Given the description of an element on the screen output the (x, y) to click on. 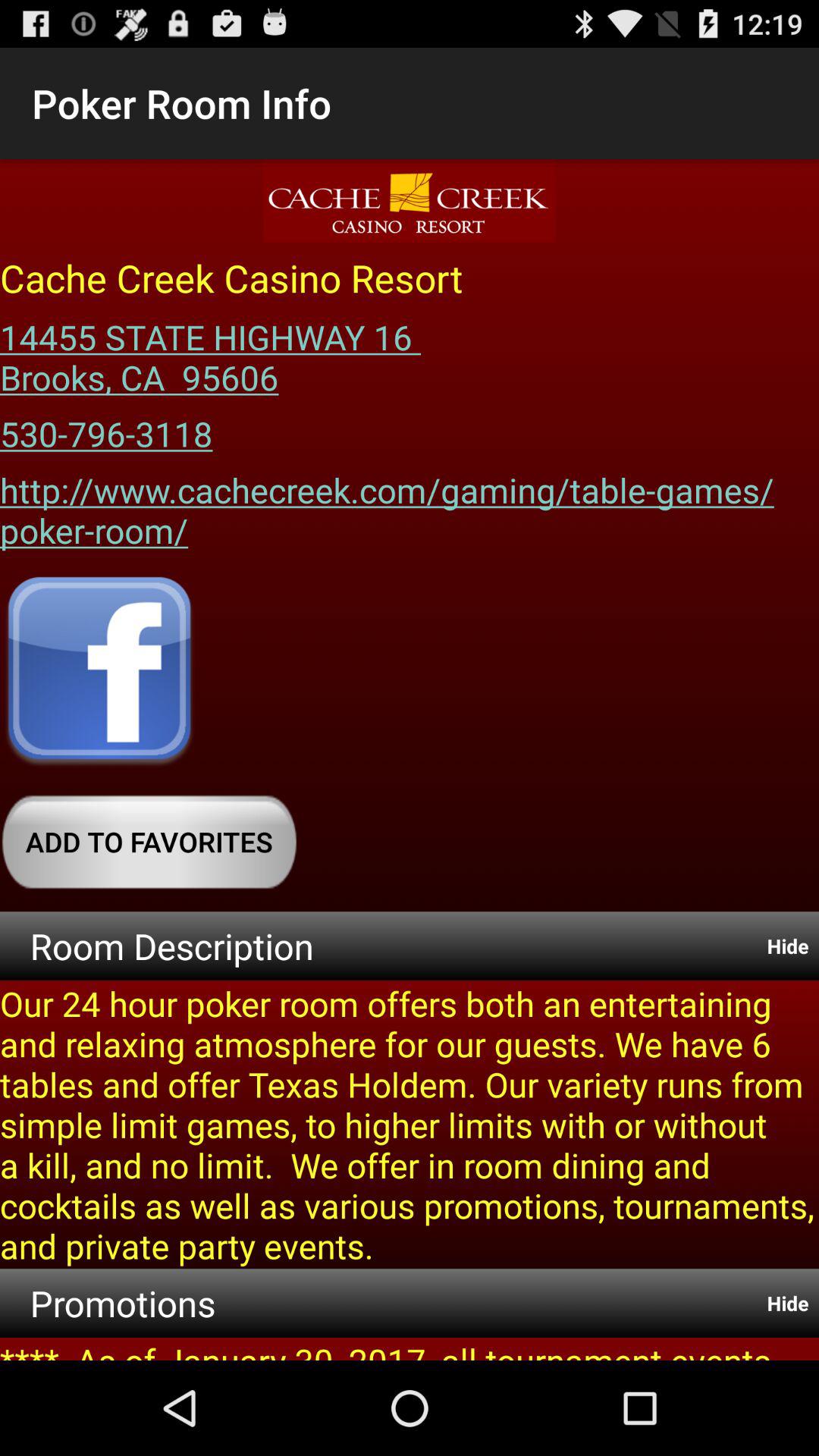
select the item below cache creek casino icon (215, 351)
